Given the description of an element on the screen output the (x, y) to click on. 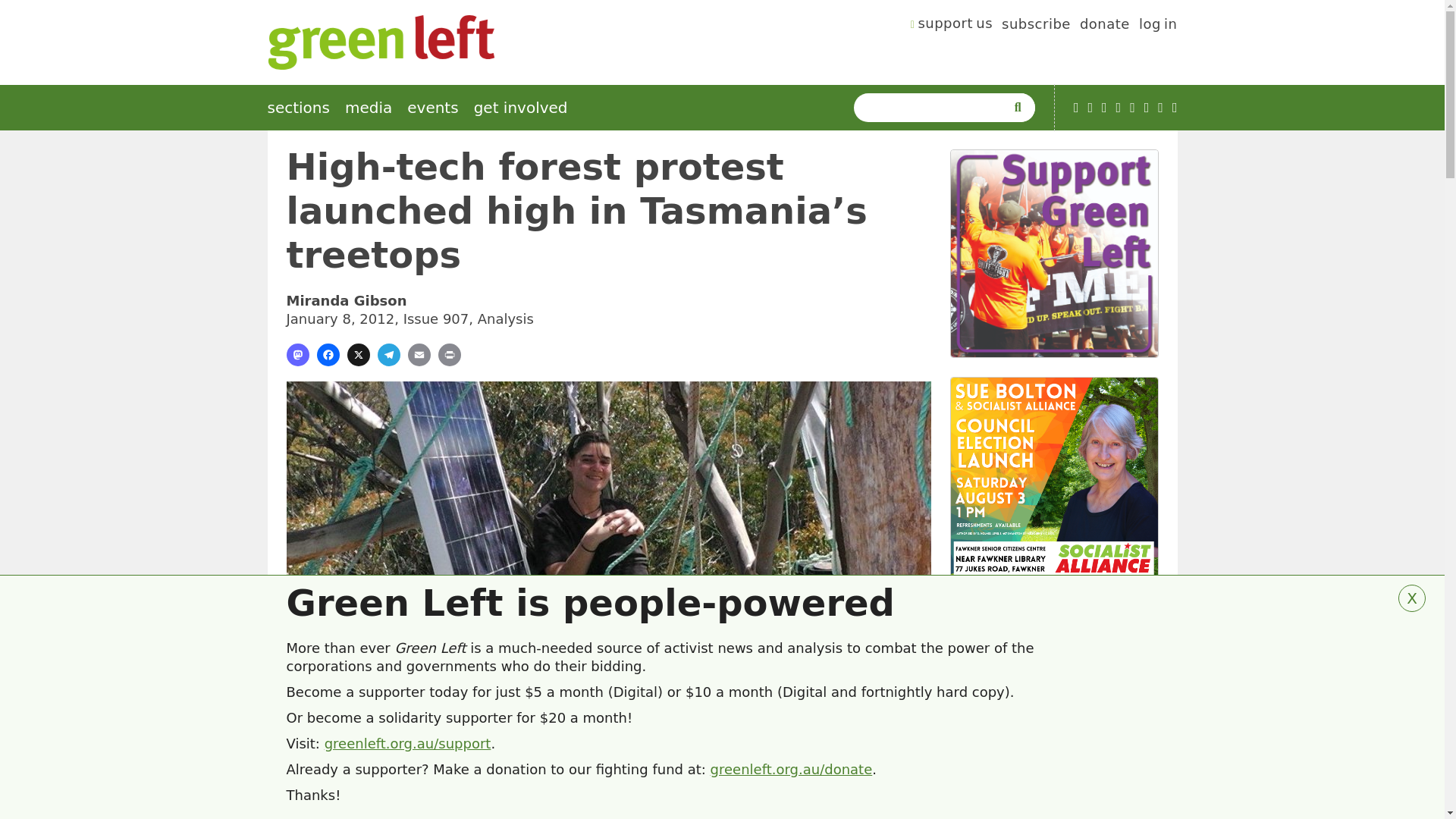
Facebook (1104, 107)
Share on Mastondon (297, 354)
log in (1157, 26)
YouTube (1076, 107)
events (432, 107)
support us (951, 26)
Share on X (358, 354)
Enter the terms you wish to search for. (932, 107)
Share on Telegram (388, 354)
Print (449, 354)
share via email (418, 354)
Share on Facebook (328, 354)
subscribe (1035, 26)
TikTok (1118, 107)
donate (1104, 26)
